Given the description of an element on the screen output the (x, y) to click on. 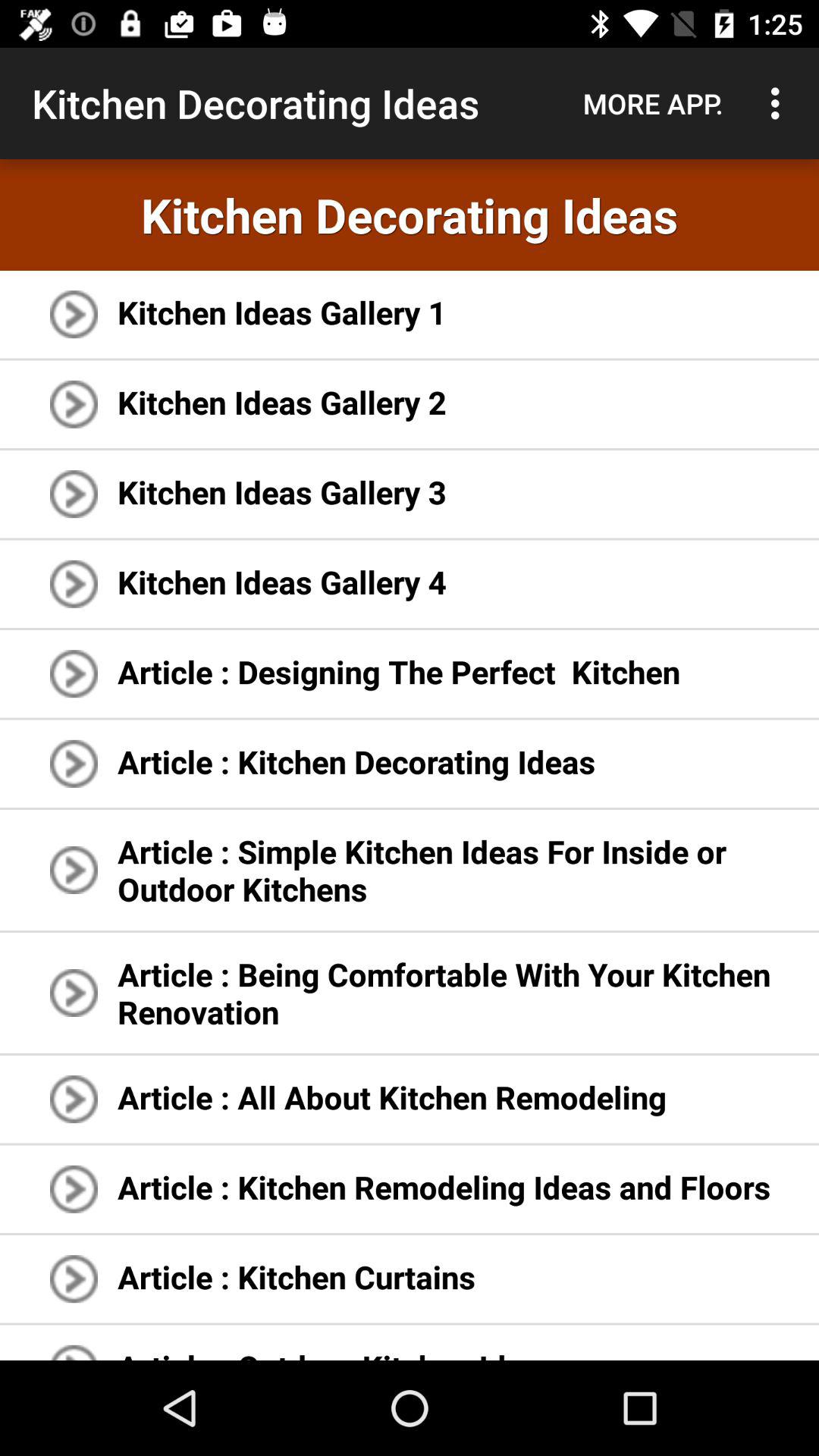
press more app. icon (653, 103)
